Given the description of an element on the screen output the (x, y) to click on. 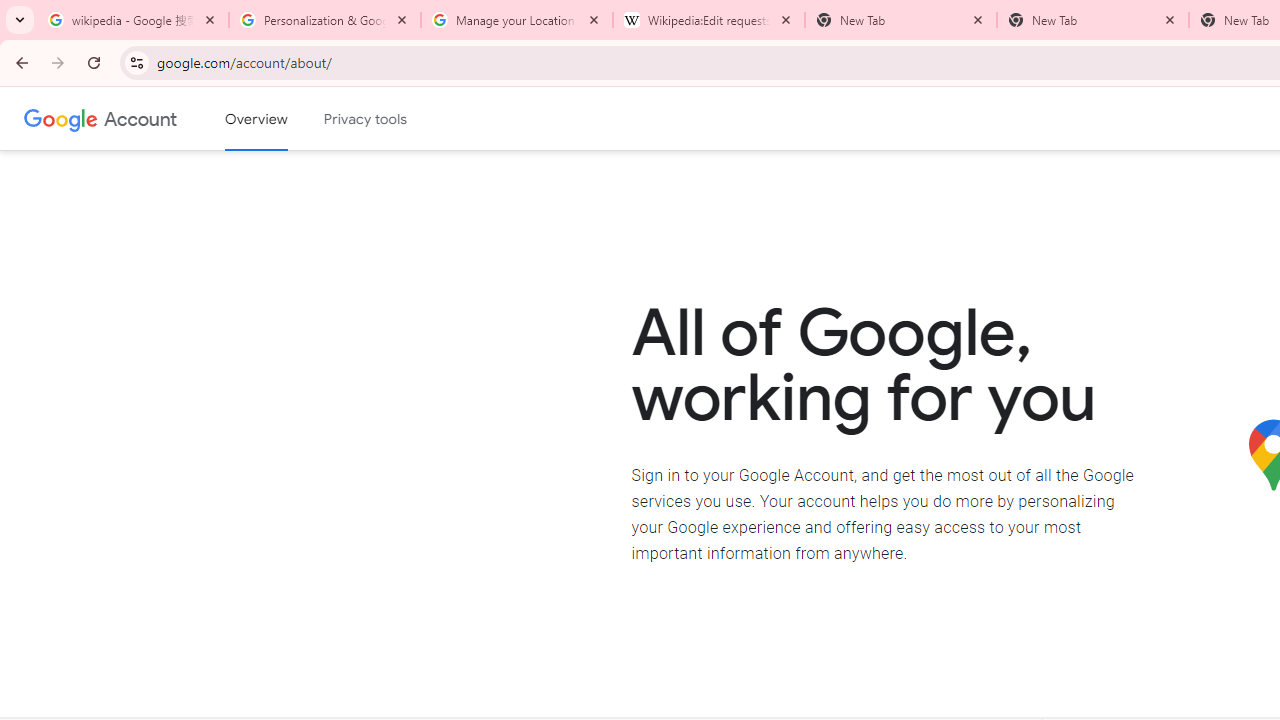
Google Account (140, 118)
Personalization & Google Search results - Google Search Help (325, 20)
New Tab (1093, 20)
Google logo (61, 118)
Manage your Location History - Google Search Help (517, 20)
Wikipedia:Edit requests - Wikipedia (709, 20)
Skip to Content (285, 115)
